Given the description of an element on the screen output the (x, y) to click on. 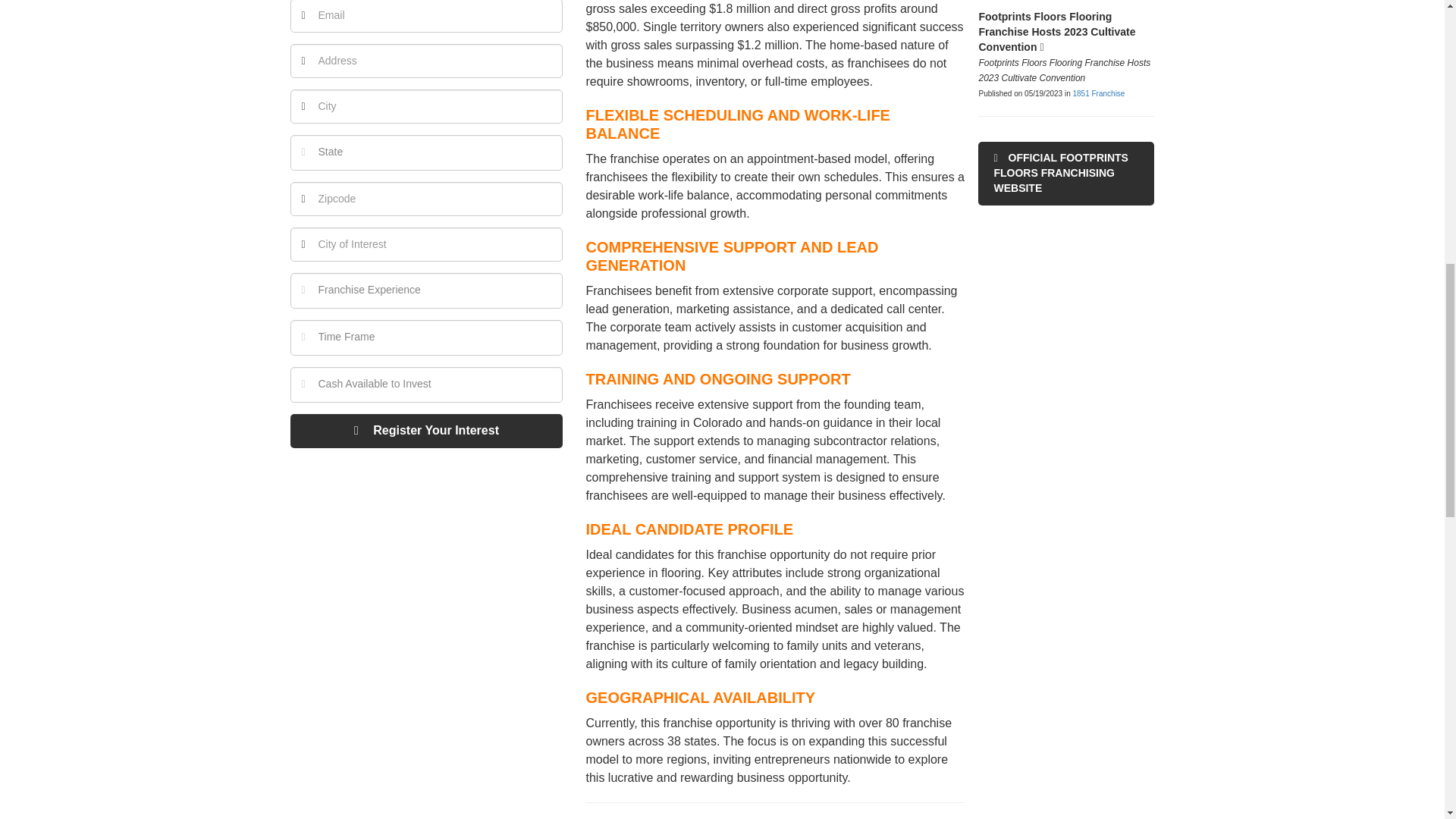
Register Your Interest (425, 430)
